Given the description of an element on the screen output the (x, y) to click on. 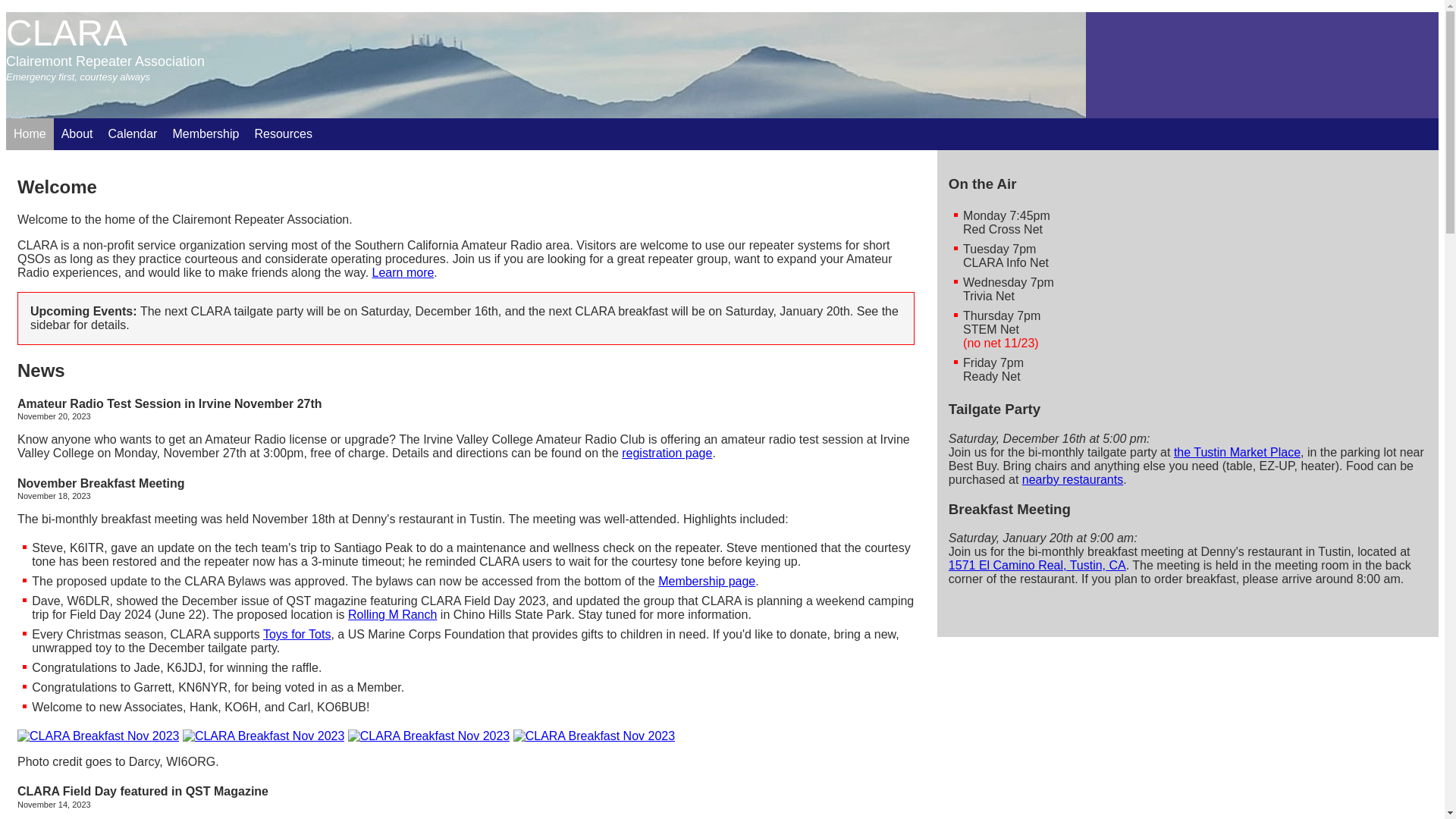
Resources Element type: text (282, 134)
Rolling M Ranch Element type: text (392, 614)
Breakfast Meeting Element type: text (1187, 509)
About Element type: text (76, 134)
registration page Element type: text (666, 452)
1571 El Camino Real, Tustin, CA Element type: text (1037, 564)
Membership page Element type: text (706, 580)
Learn more Element type: text (403, 272)
the Tustin Market Place Element type: text (1236, 451)
nearby restaurants Element type: text (1072, 479)
Calendar Element type: text (132, 134)
Toys for Tots Element type: text (297, 633)
Membership Element type: text (205, 134)
Tailgate Party Element type: text (1187, 409)
Home Element type: text (29, 134)
